Given the description of an element on the screen output the (x, y) to click on. 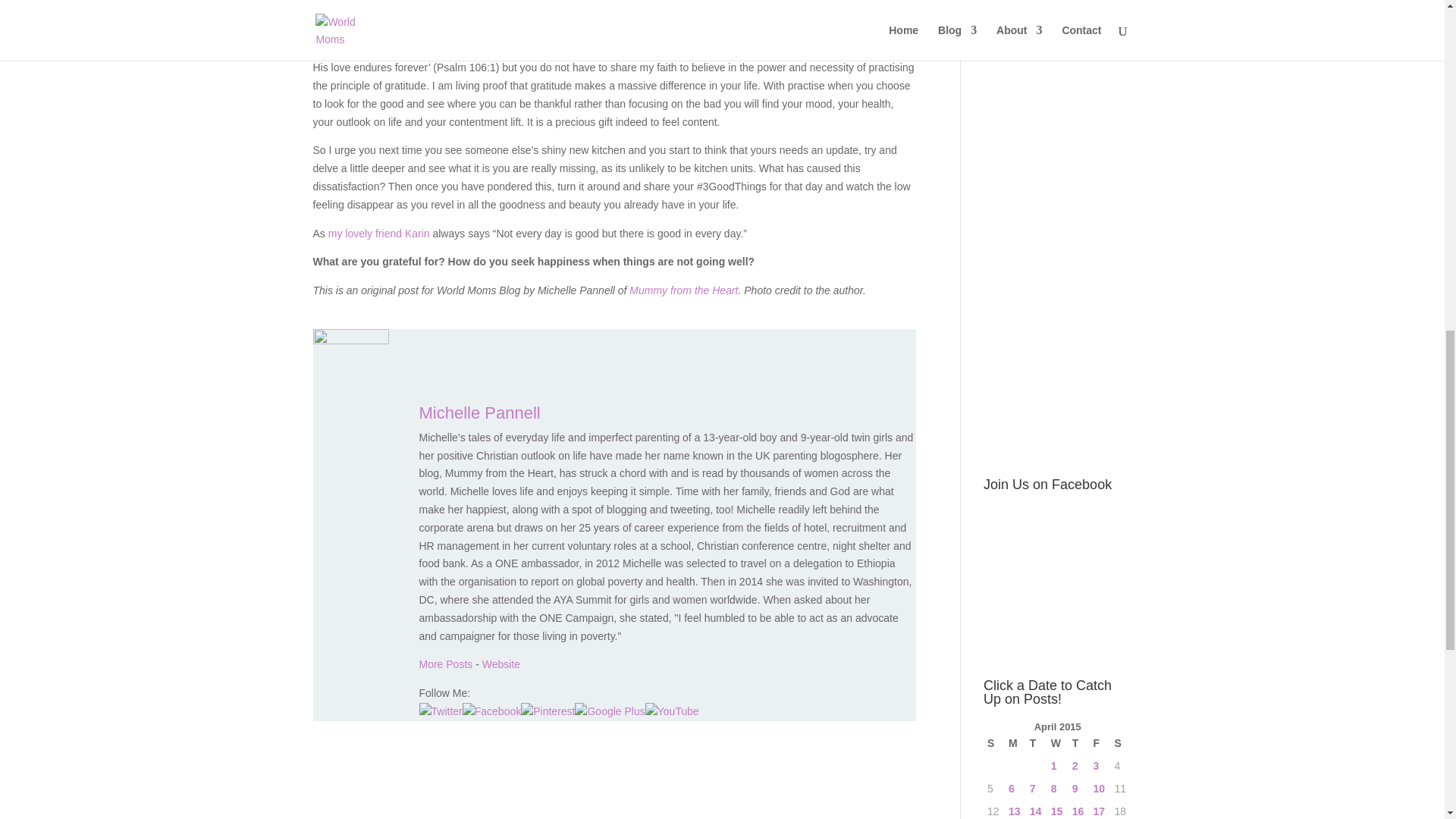
Saturday (1120, 743)
Website (500, 664)
Wednesday (1057, 743)
Monday (1015, 743)
my lovely friend Karin (379, 233)
Mummy from the Heart (683, 290)
Friday (1099, 743)
More Posts (445, 664)
Thursday (1078, 743)
Michelle Pannell (479, 412)
Sunday (994, 743)
Tuesday (1036, 743)
More posts by Michelle Pannell (445, 664)
Michelle Pannell (500, 664)
Michelle Pannell (479, 412)
